Given the description of an element on the screen output the (x, y) to click on. 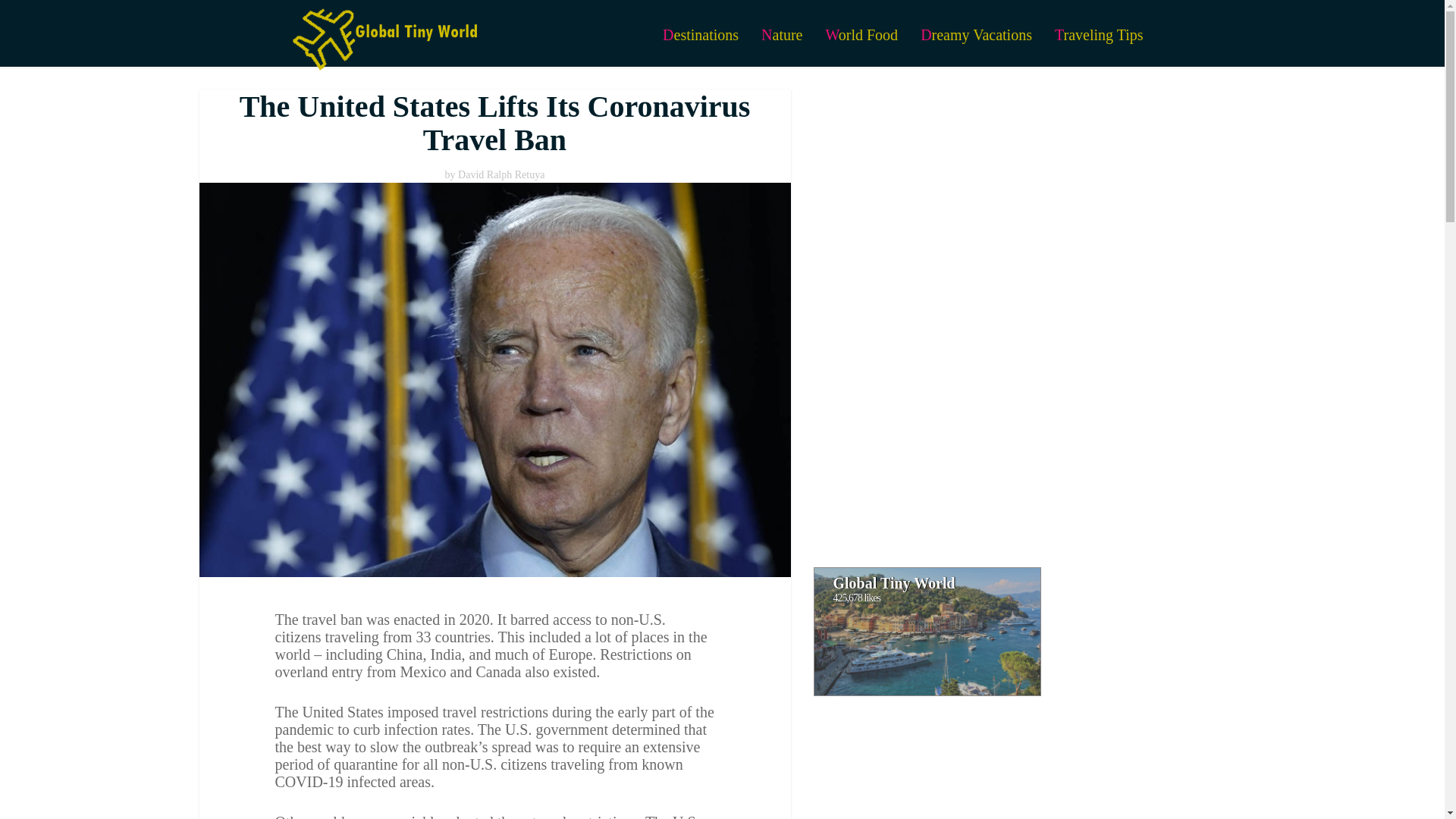
Destinations (699, 35)
Dreamy Vacations (975, 35)
Nature (781, 35)
David Ralph Retuya (501, 174)
Traveling Tips (1098, 35)
World Food (861, 35)
